Given the description of an element on the screen output the (x, y) to click on. 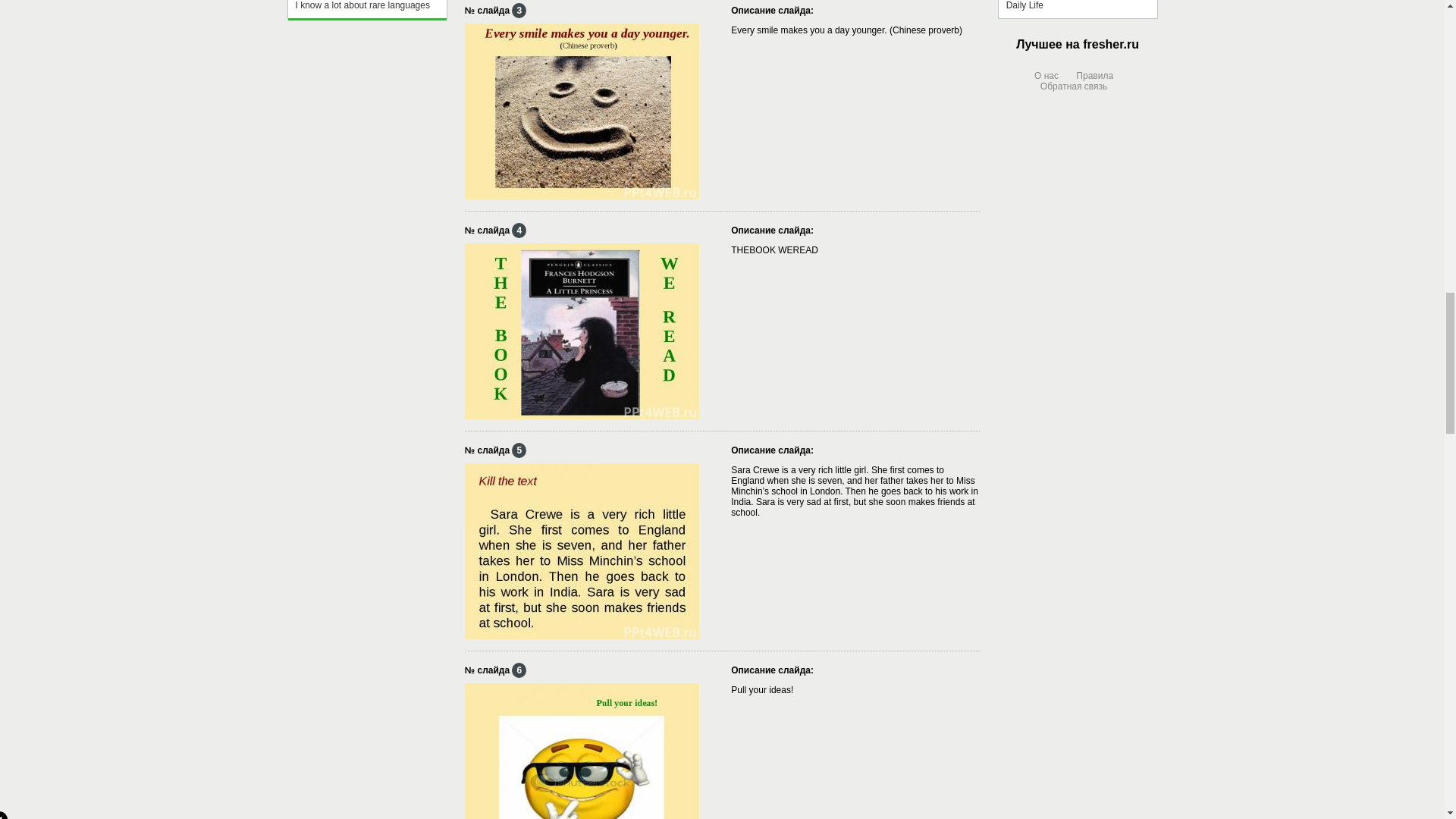
I know a lot about rare languages (367, 14)
